Given the description of an element on the screen output the (x, y) to click on. 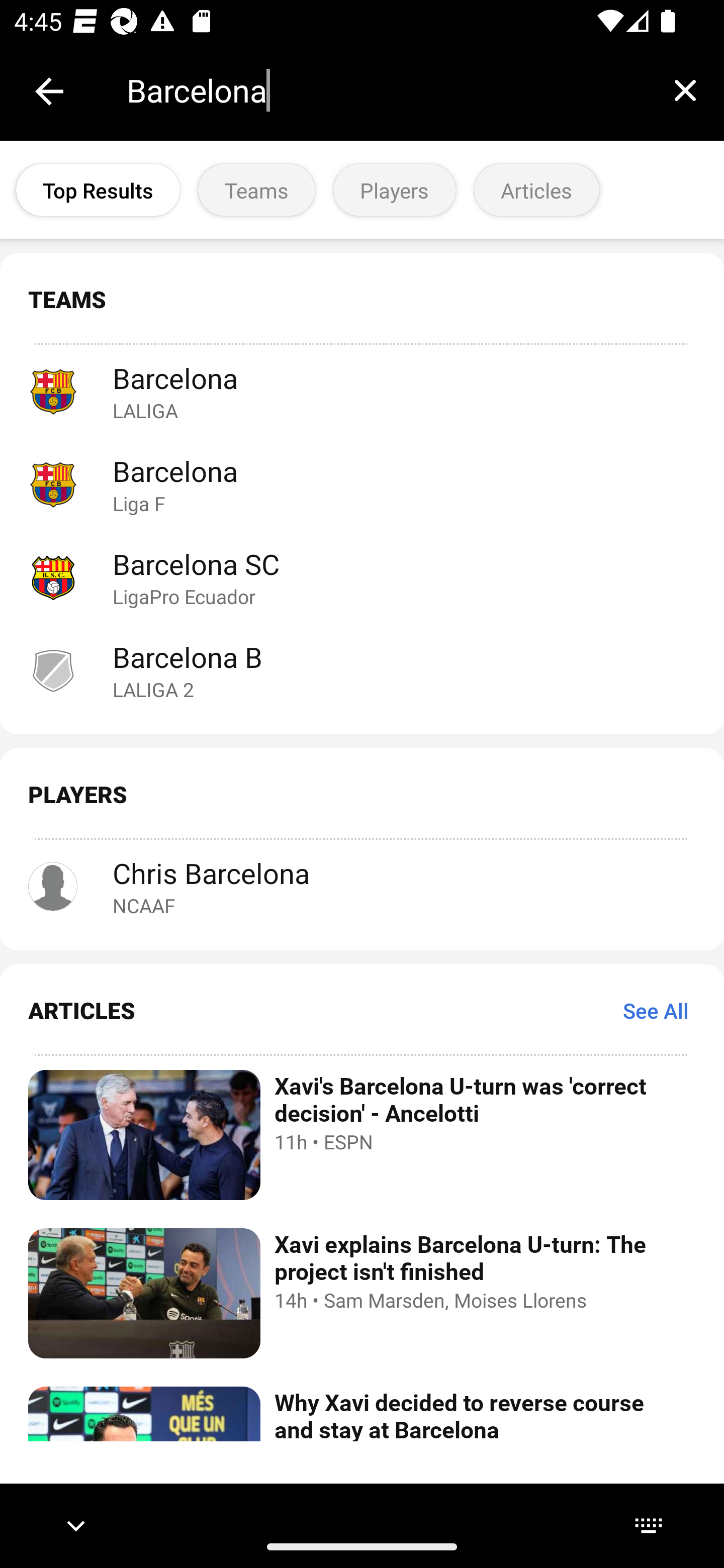
Collapse (49, 91)
Clear query (685, 89)
Barcelona (386, 90)
Top Results (97, 190)
Teams (256, 190)
Players (394, 190)
Articles (536, 190)
Barcelona : LALIGA Barcelona LALIGA (362, 390)
Barcelona : Liga F Barcelona Liga F (362, 483)
Barcelona B : LALIGA 2 Barcelona B LALIGA 2 (362, 670)
Chris Barcelona : NCAAF Chris Barcelona NCAAF (362, 886)
See All (655, 1010)
